Given the description of an element on the screen output the (x, y) to click on. 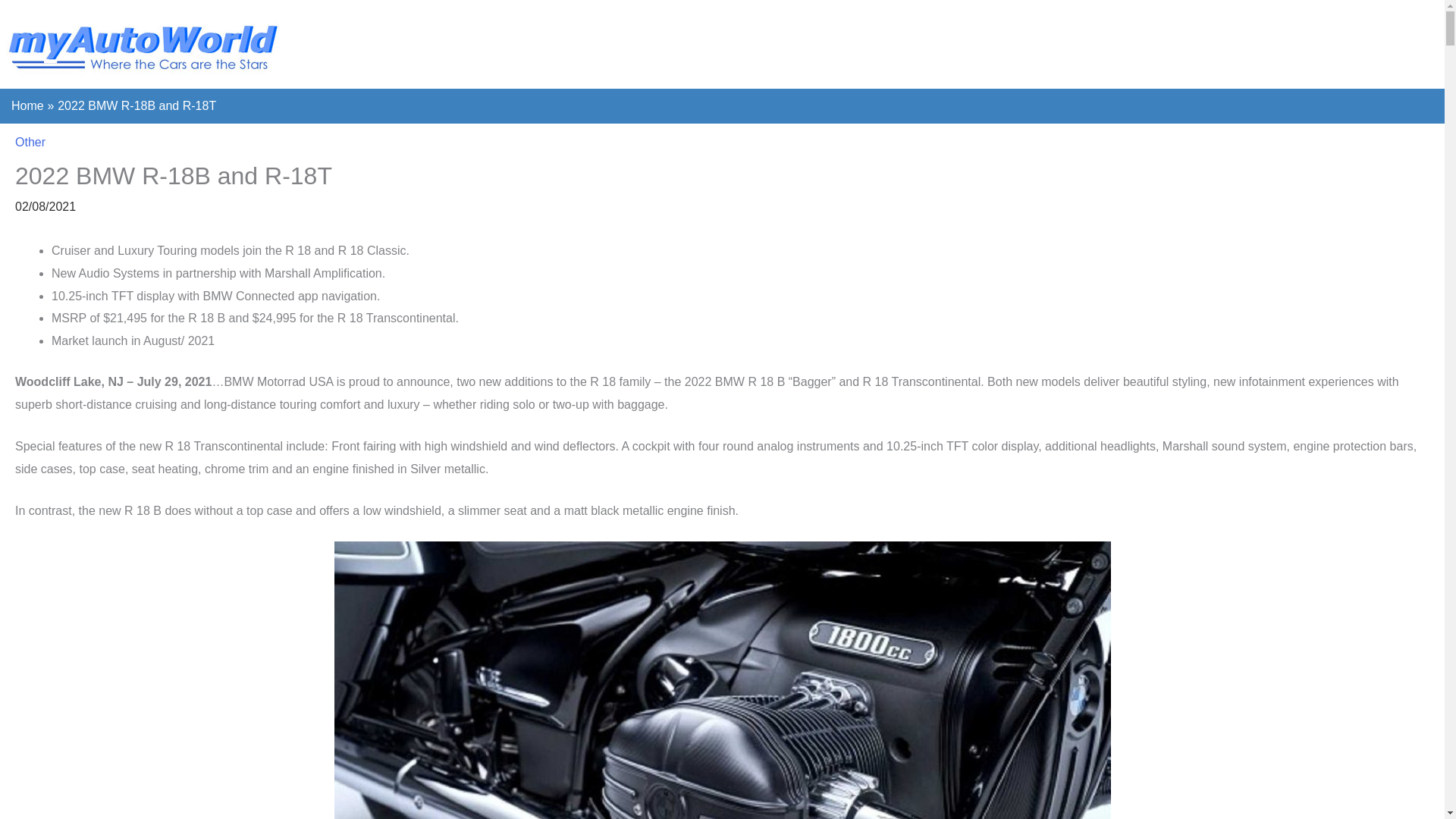
Home (27, 105)
Other (29, 141)
